Given the description of an element on the screen output the (x, y) to click on. 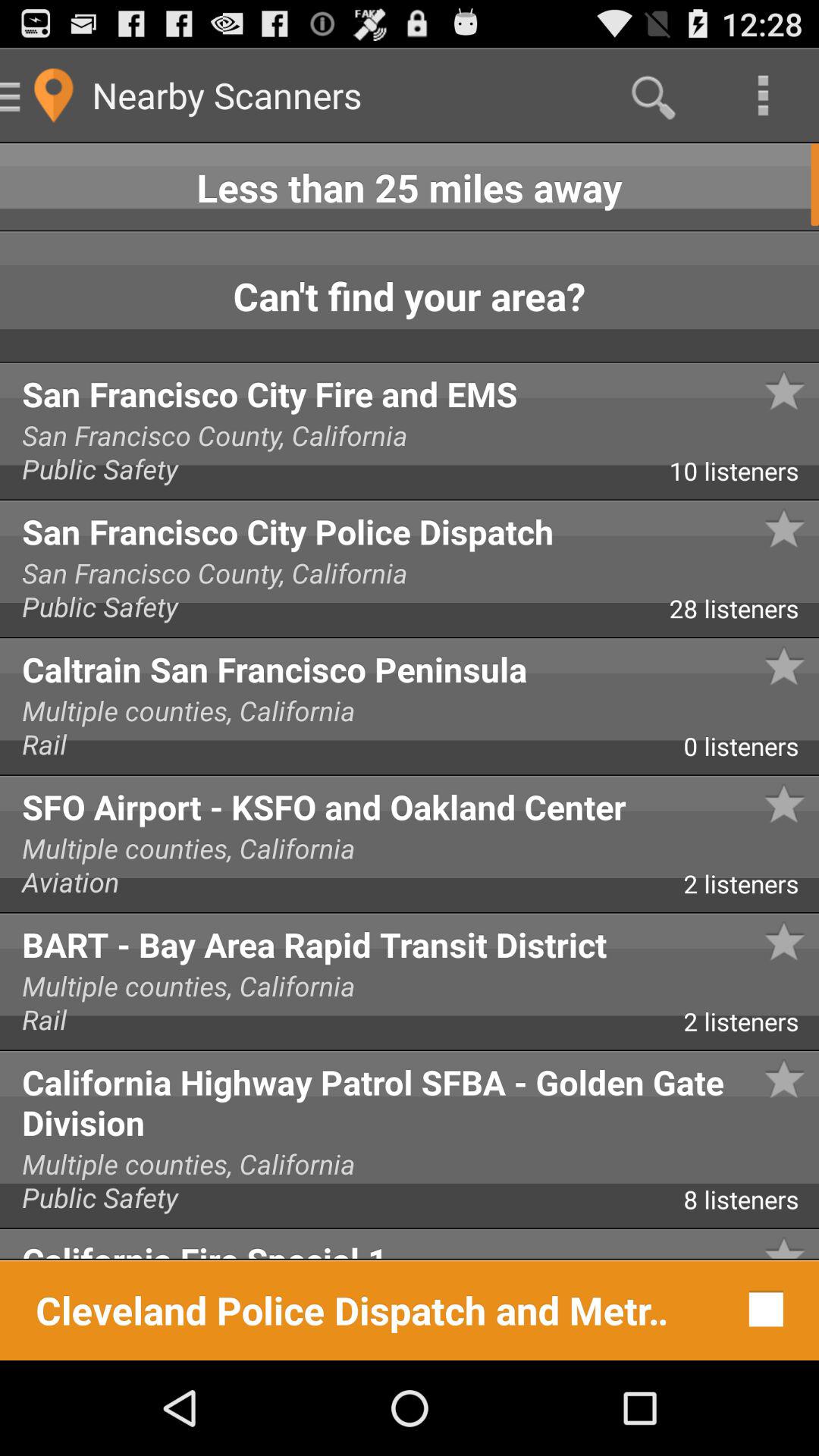
press the app above san francisco city (744, 476)
